Given the description of an element on the screen output the (x, y) to click on. 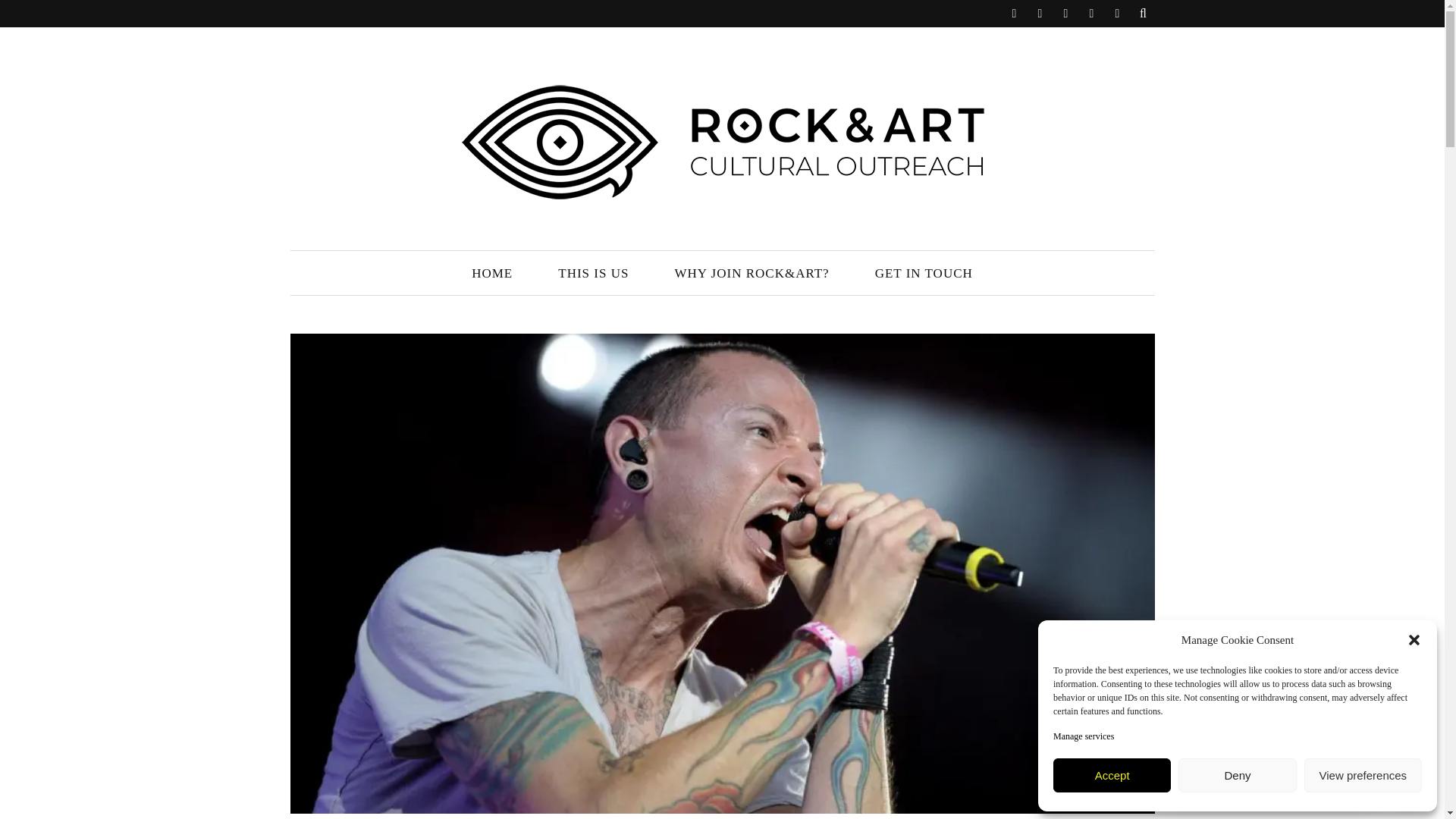
Accept (1111, 775)
HOME (491, 273)
Deny (1236, 775)
Manage services (1082, 735)
View preferences (1363, 775)
GET IN TOUCH (923, 273)
THIS IS US (592, 273)
